Given the description of an element on the screen output the (x, y) to click on. 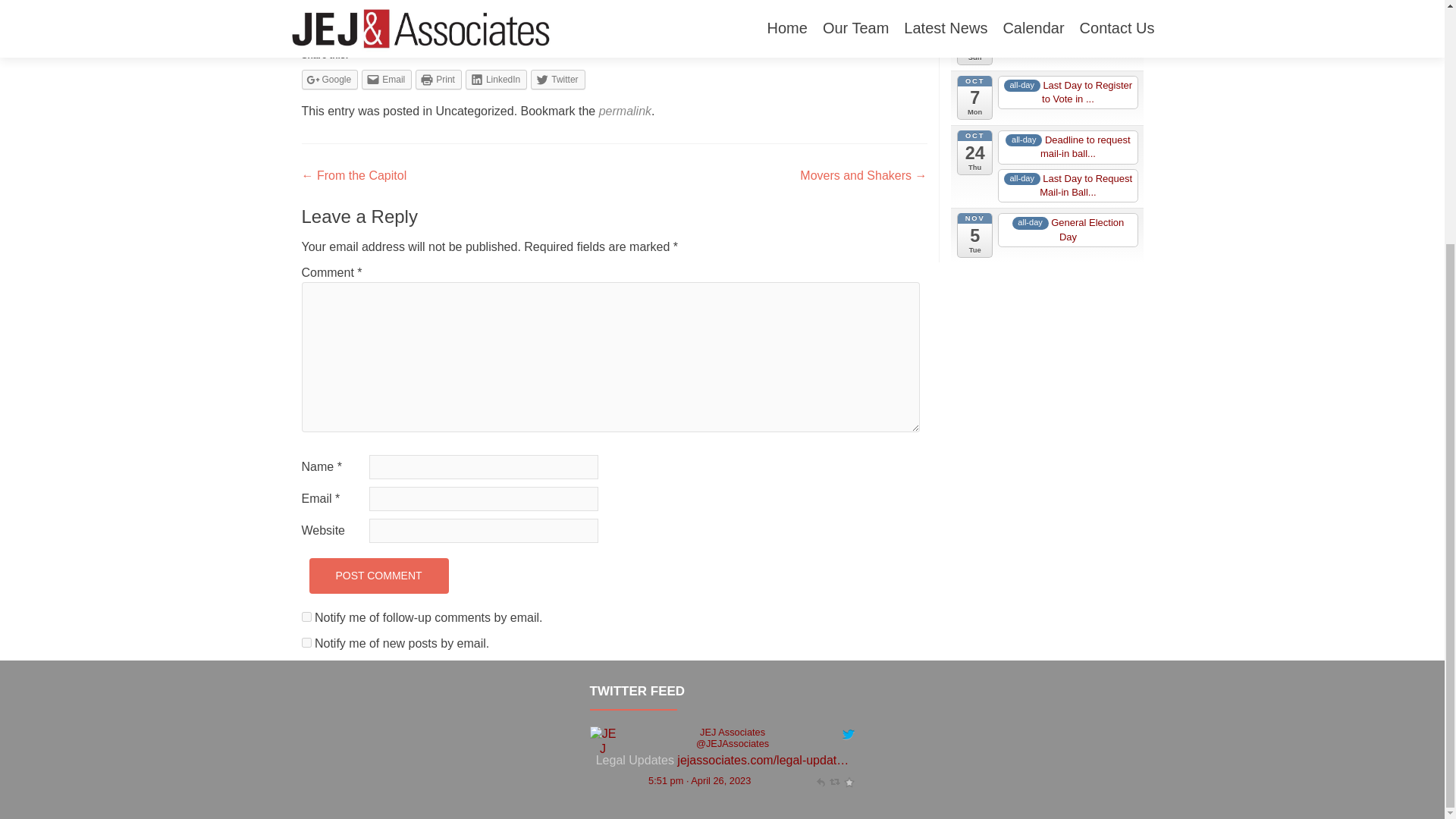
Post Comment (378, 575)
subscribe (306, 642)
Print (437, 79)
Click to share on LinkedIn (496, 79)
permalink (624, 110)
Email (386, 79)
here (819, 13)
here  (648, 13)
Click to email this to a friend (386, 79)
subscribe (306, 616)
